Given the description of an element on the screen output the (x, y) to click on. 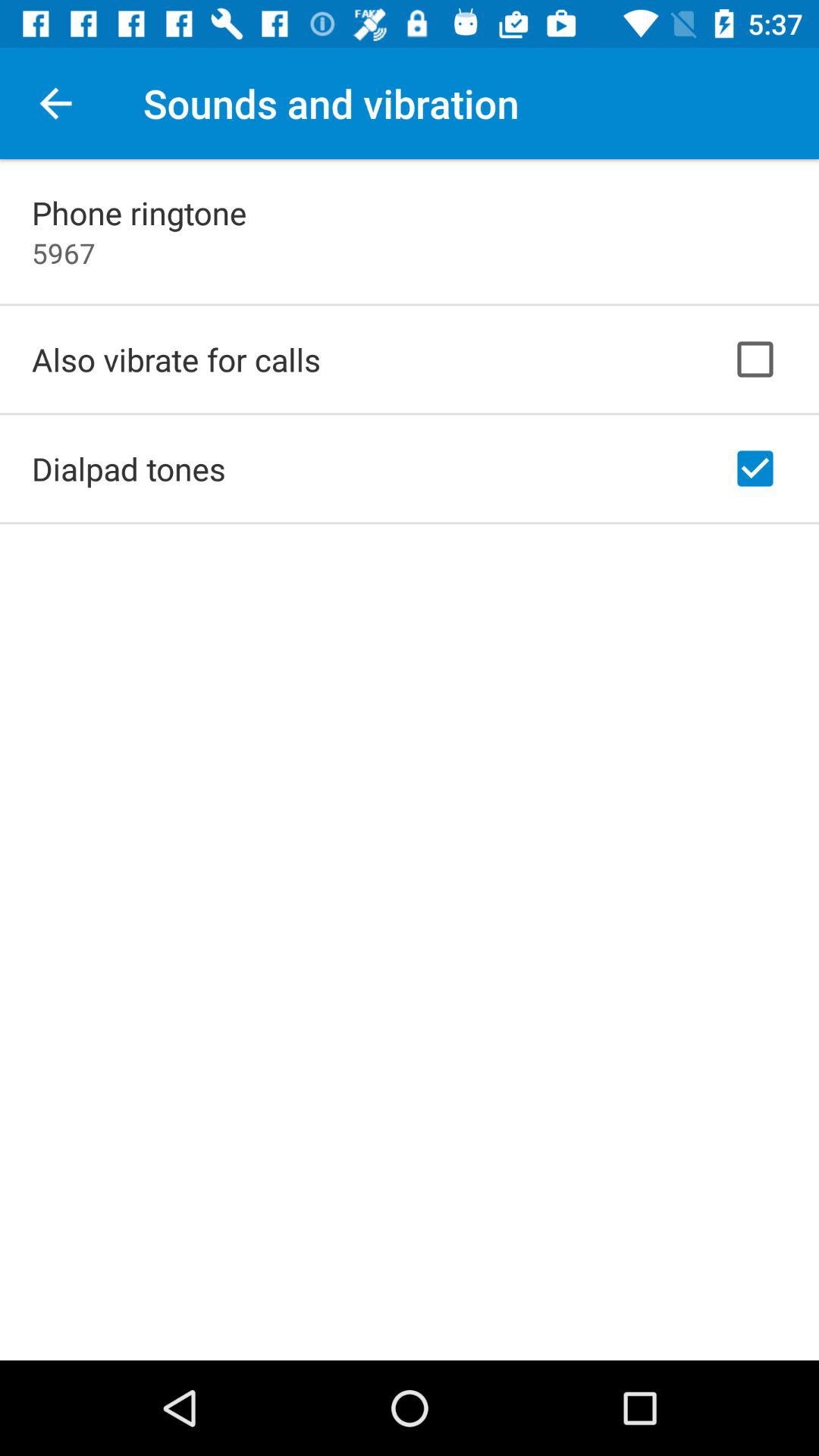
turn off icon above 5967 app (138, 212)
